Given the description of an element on the screen output the (x, y) to click on. 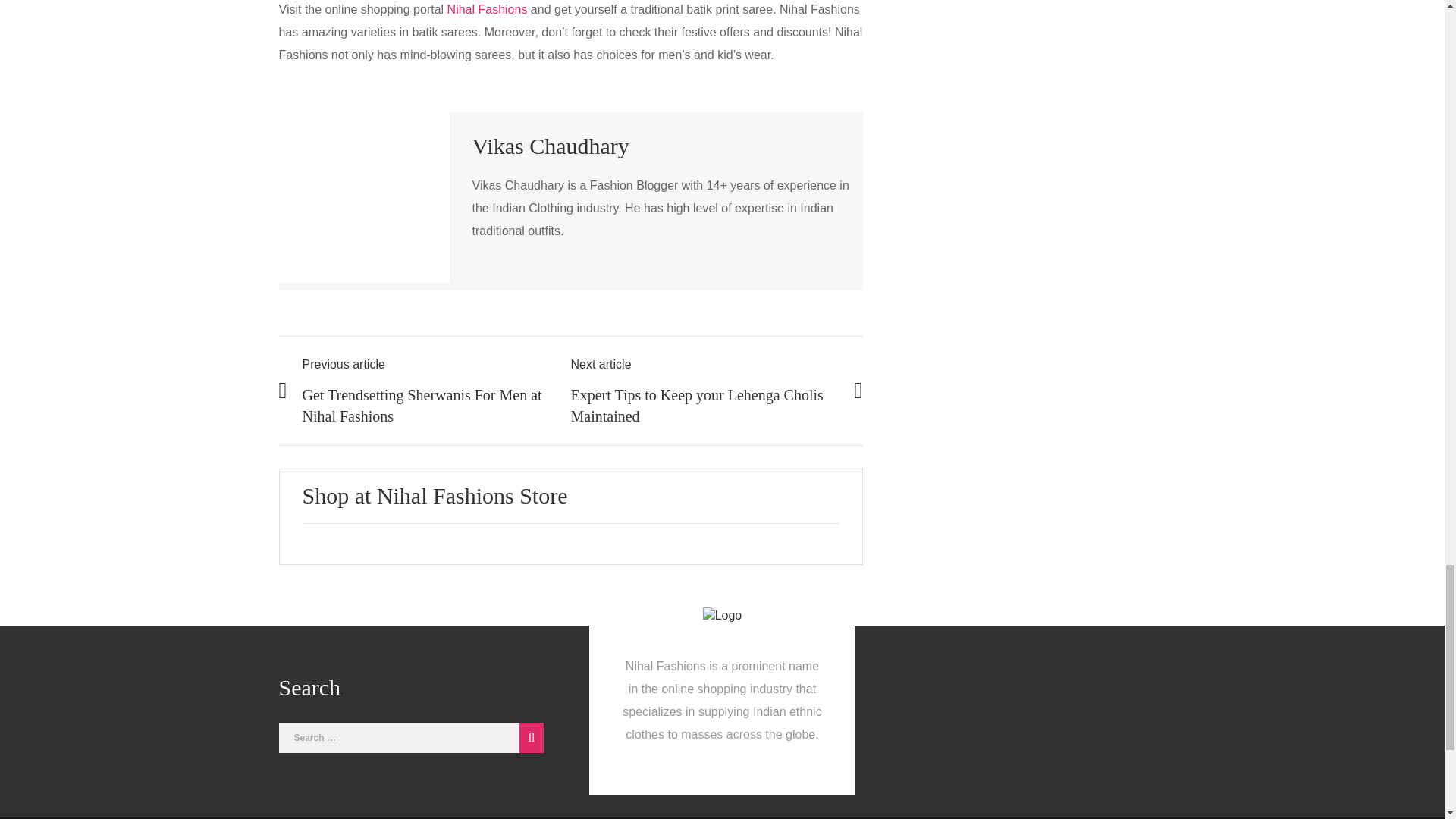
Search (528, 737)
Search (528, 737)
Search (528, 737)
Shop at Nihal Fashions Store (434, 495)
Nihal Fashions (486, 9)
